Given the description of an element on the screen output the (x, y) to click on. 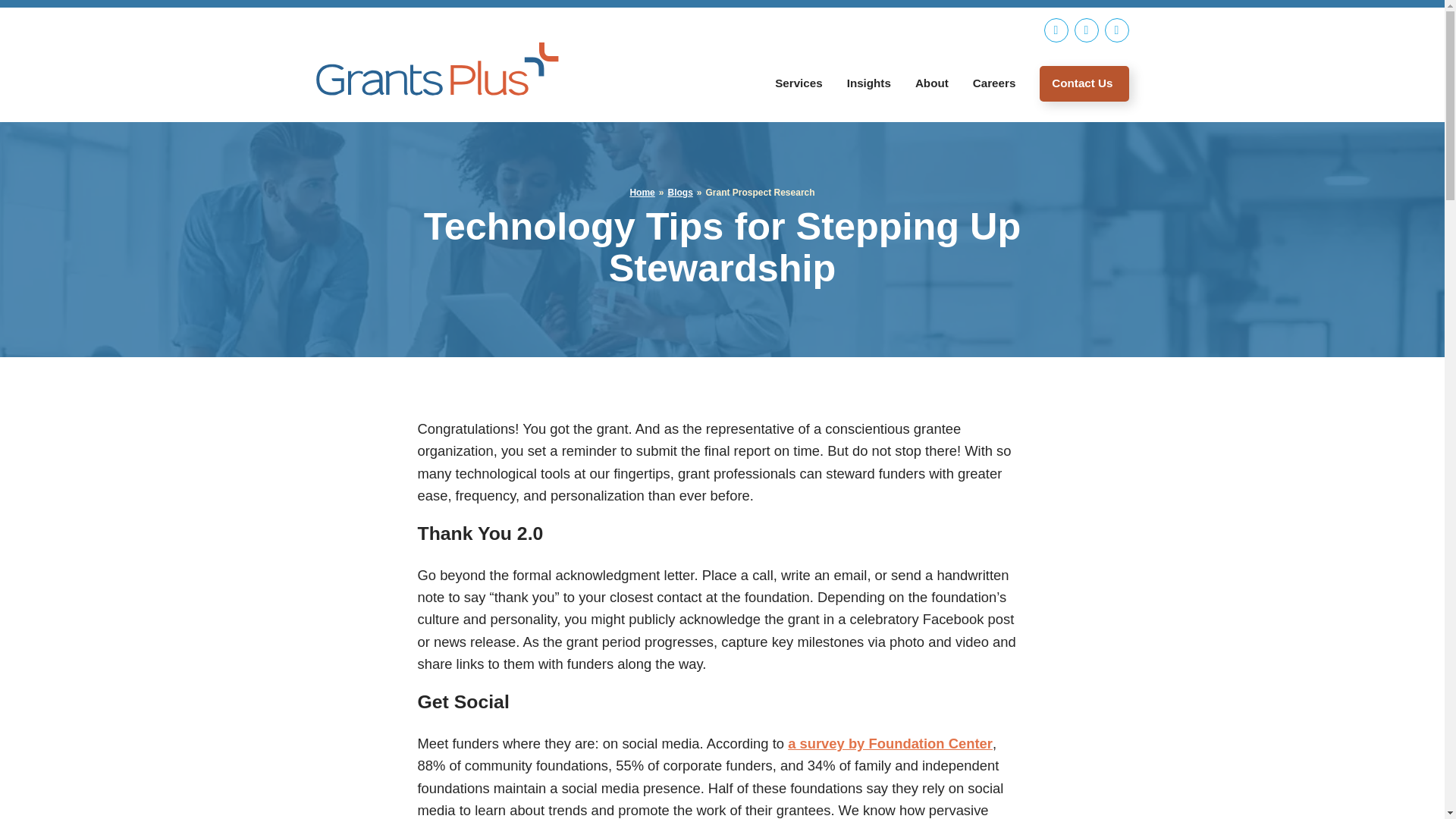
Blogs (679, 192)
About (931, 83)
Contact Us (1083, 83)
Home (640, 192)
Insights (868, 83)
a survey by Foundation Center (889, 743)
Careers (993, 83)
Services (798, 83)
